Given the description of an element on the screen output the (x, y) to click on. 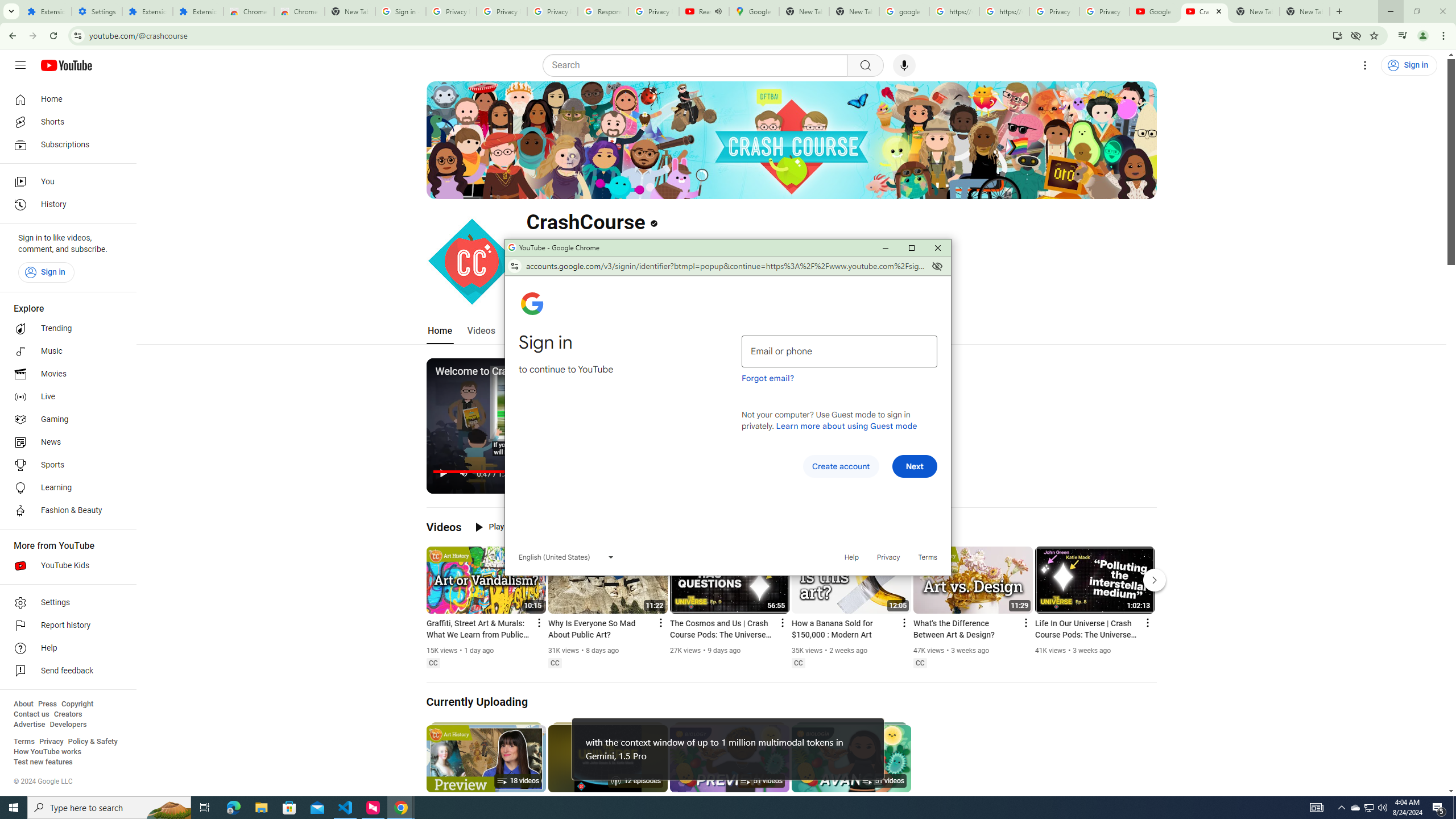
Videos (443, 526)
Policy & Safety (91, 741)
Videos (481, 330)
Search highlights icon opens search home window (167, 807)
